Given the description of an element on the screen output the (x, y) to click on. 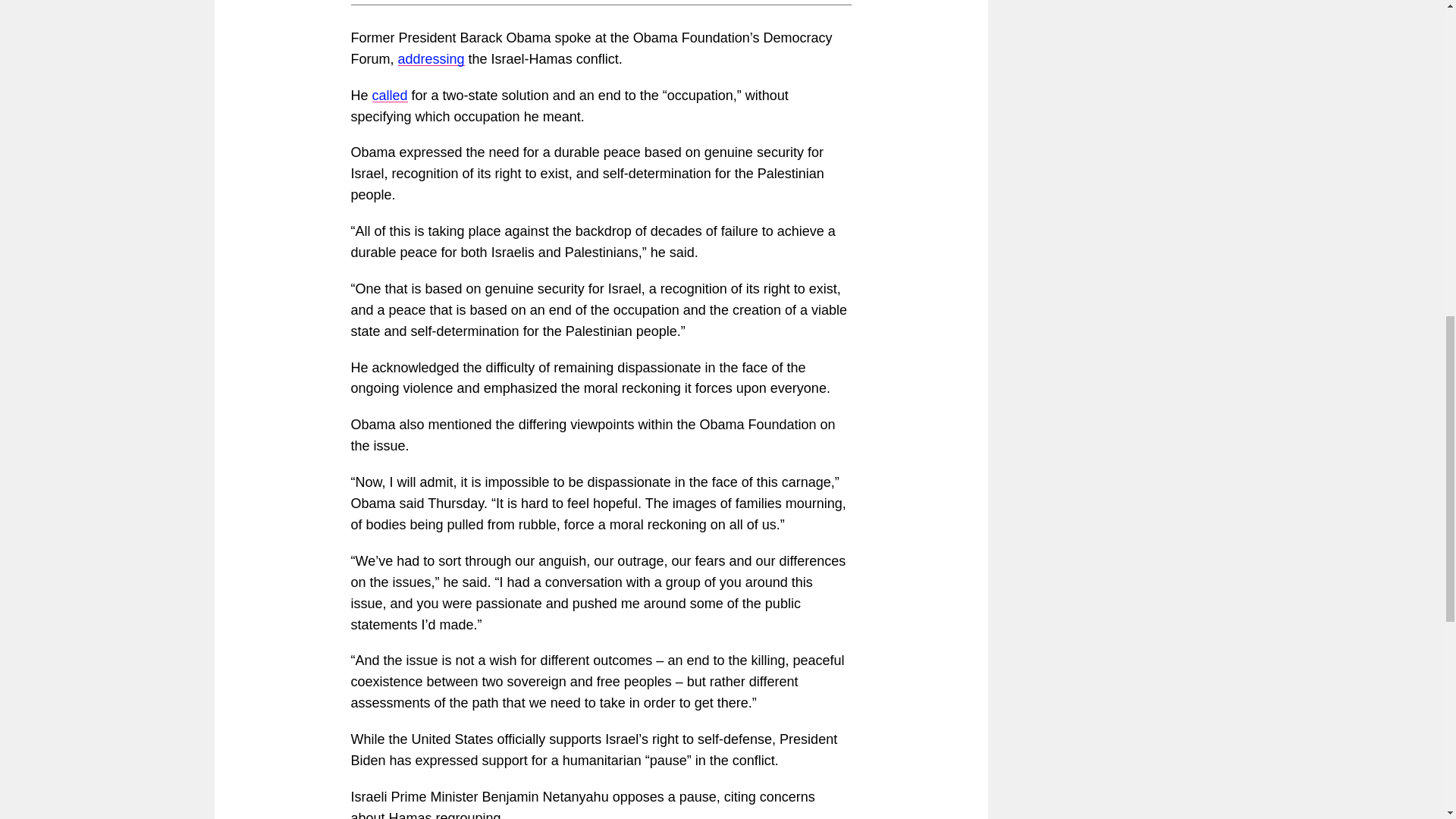
called (389, 95)
addressing (430, 58)
